Given the description of an element on the screen output the (x, y) to click on. 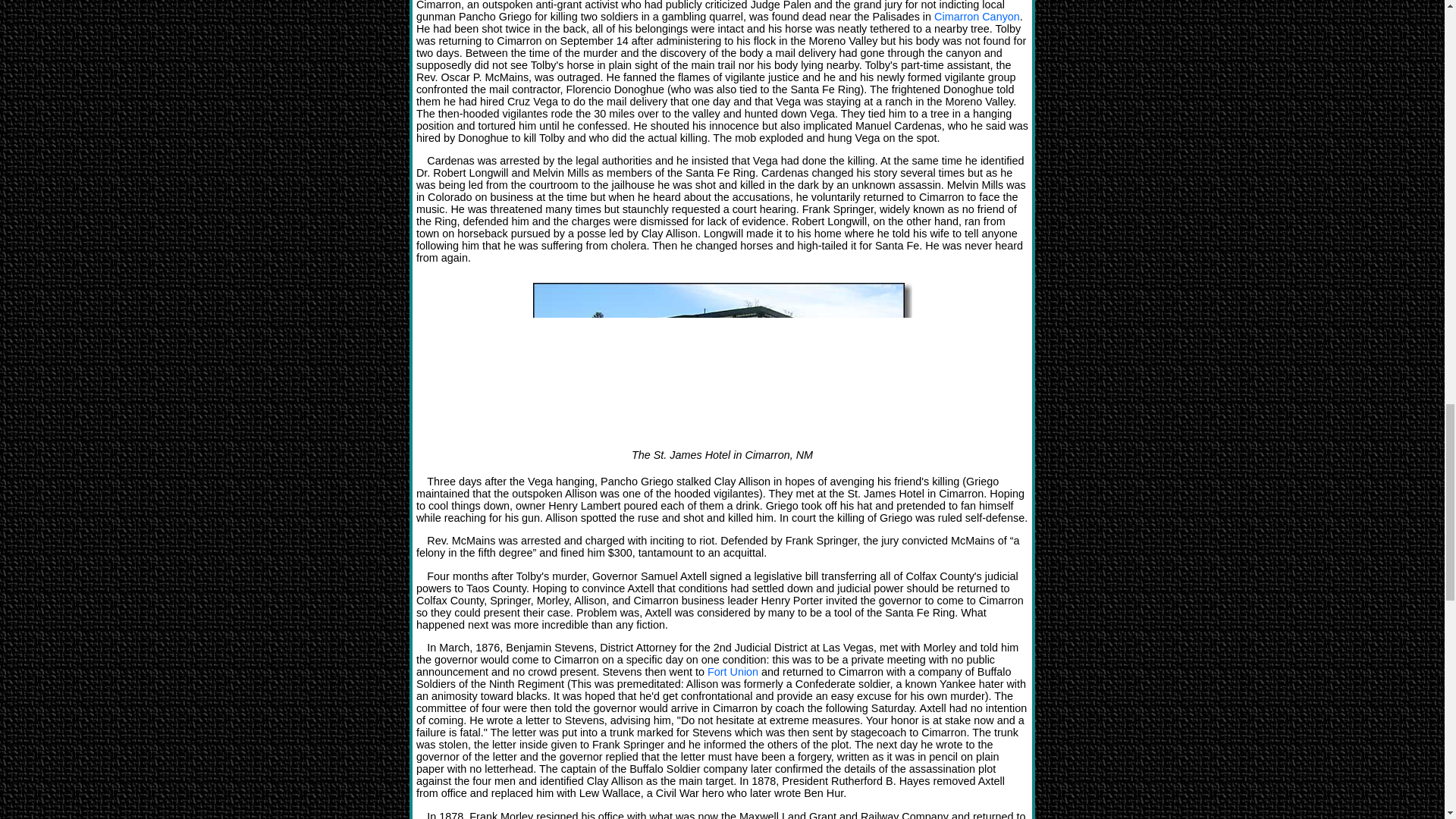
Cimarron Canyon (977, 16)
Cimarron Canyon State Park (977, 16)
Fort Union (732, 671)
Fort Union National Monument (732, 671)
